Given the description of an element on the screen output the (x, y) to click on. 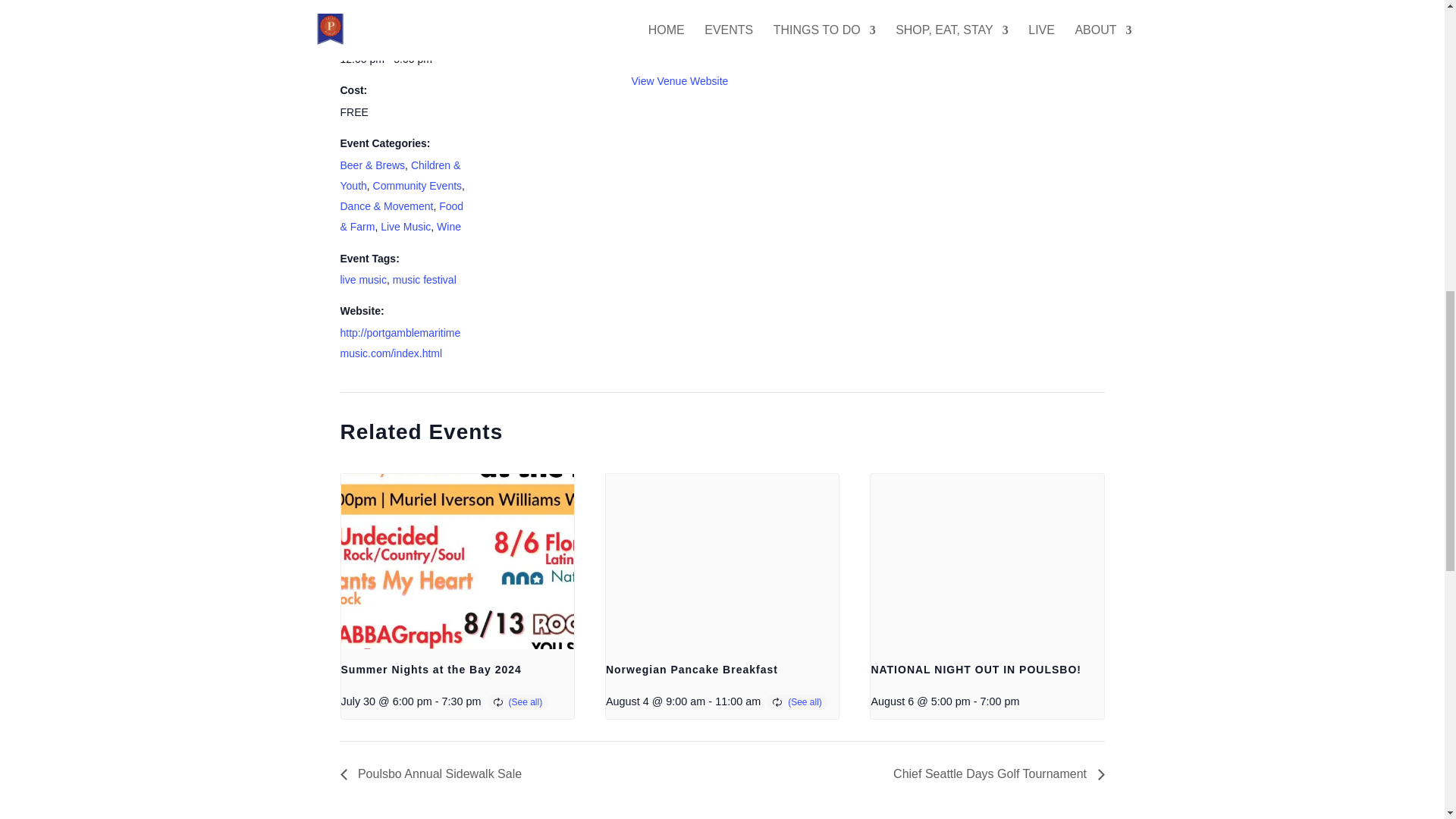
2016-08-13 (403, 59)
Google maps iframe displaying the address to Port Gamble (856, 53)
Click to view a Google Map (685, 39)
Washington (705, 9)
2016-08-13 (377, 6)
